Given the description of an element on the screen output the (x, y) to click on. 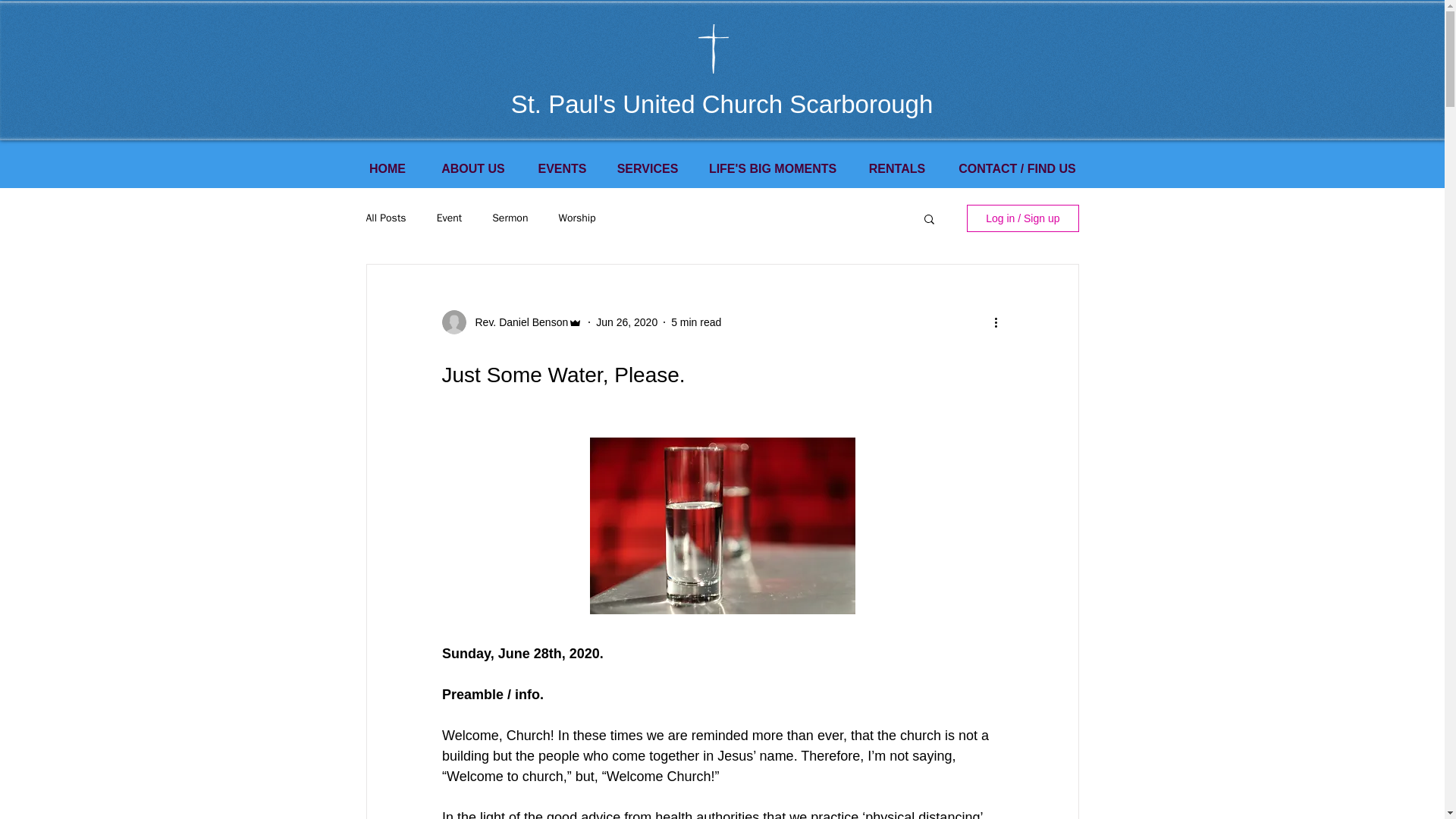
Event (449, 218)
SERVICES (647, 166)
All Posts (385, 218)
Rev. Daniel Benson (516, 322)
HOME (386, 166)
EVENTS (561, 166)
Jun 26, 2020 (626, 322)
Worship (576, 218)
5 min read (695, 322)
LIFE'S BIG MOMENTS (773, 166)
